Given the description of an element on the screen output the (x, y) to click on. 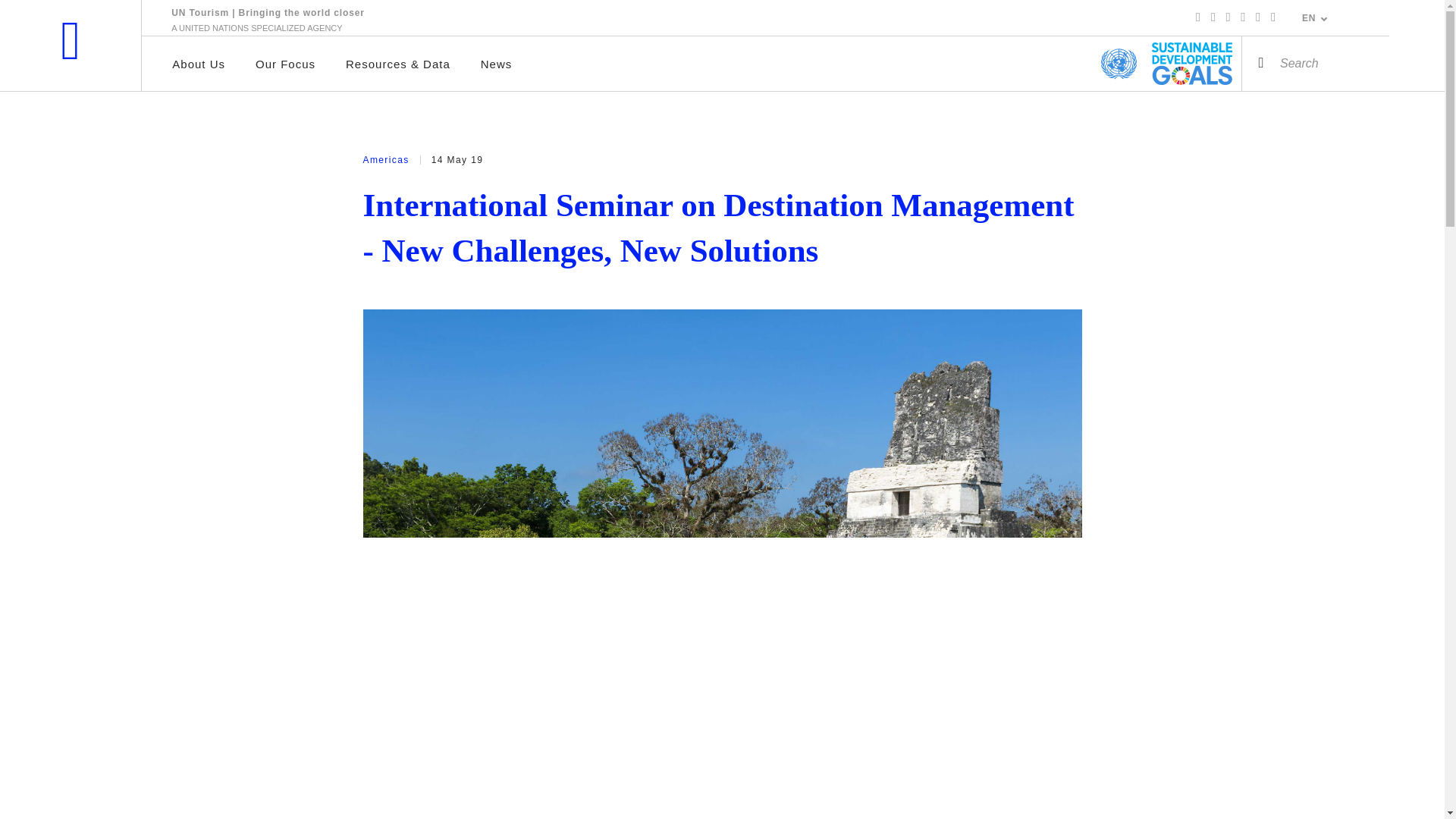
EN (1314, 18)
About Us (198, 63)
Enter the terms you wish to search for. (1299, 63)
Our Focus (285, 63)
